Given the description of an element on the screen output the (x, y) to click on. 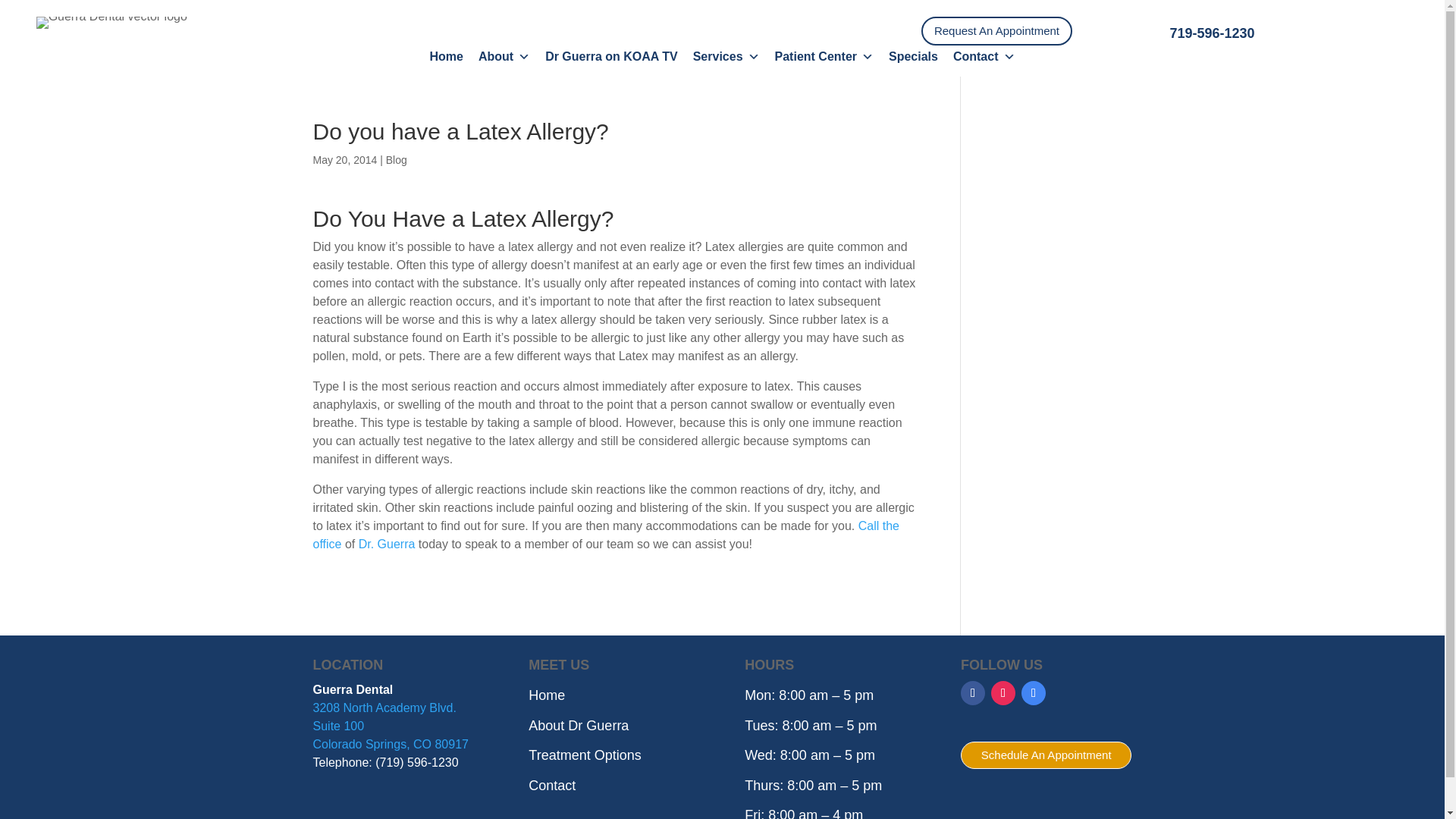
Request An Appointment (996, 30)
Follow on Facebook (972, 692)
Follow on Instagram (1002, 692)
Dr Guerra on KOAA TV (611, 56)
Home (446, 56)
About (503, 56)
Follow on Google (1033, 692)
719-596-1230 (1211, 32)
Services (726, 56)
